Given the description of an element on the screen output the (x, y) to click on. 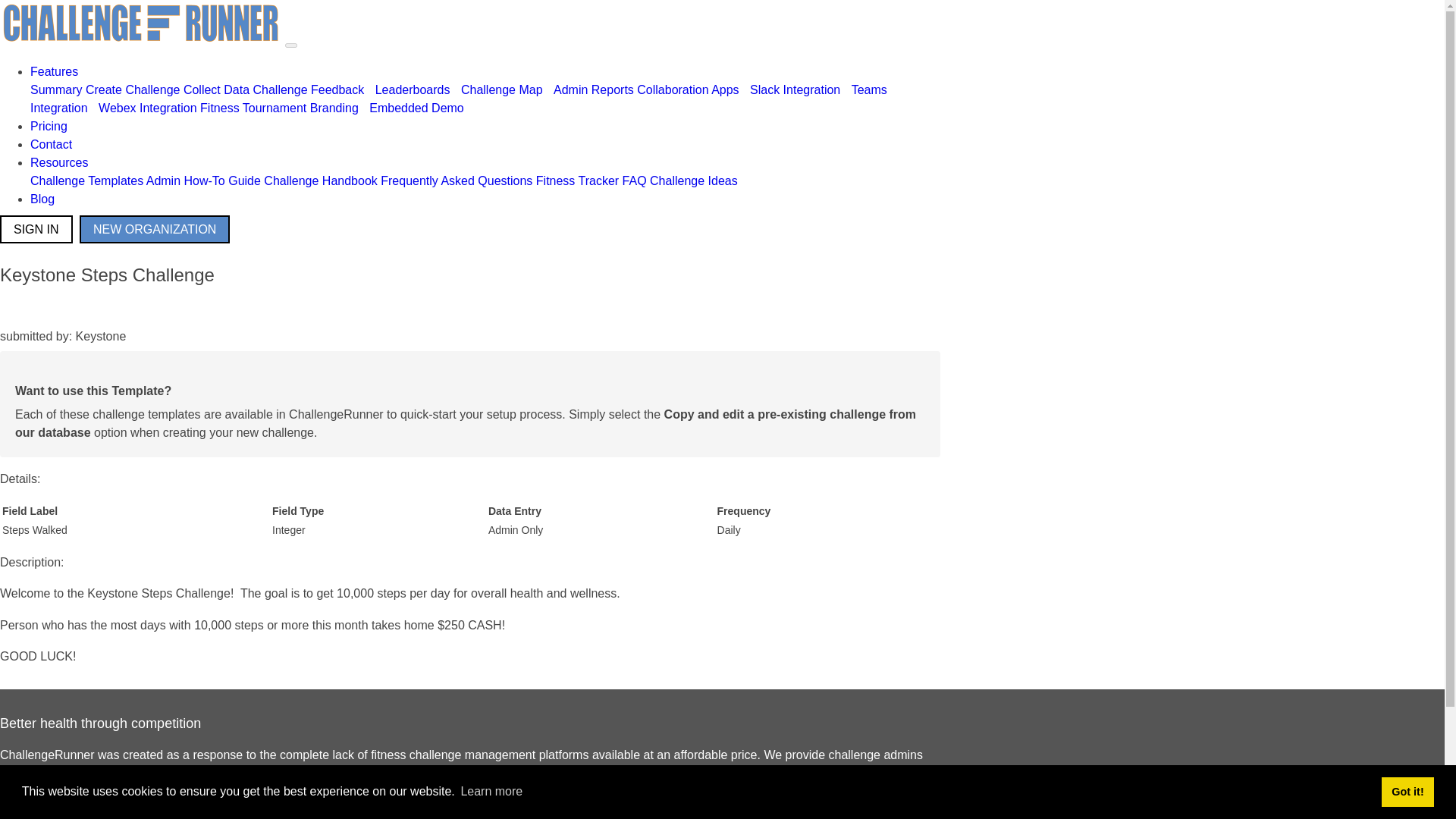
Features (54, 71)
Webex Integration (147, 107)
Fitness Tournament (252, 107)
Got it! (1407, 791)
Admin How-To Guide (203, 180)
Branding (334, 107)
Fitness Challenge Creation (132, 89)
Feature Summary (55, 89)
NEW ORGANIZATION (155, 229)
Teams Integration (458, 98)
Challenge Templates (86, 180)
Leaderboards (412, 89)
Collaboration Apps (687, 89)
Participant Tracking using Challenge Maps (502, 89)
Fitness Tracker FAQ (590, 180)
